Given the description of an element on the screen output the (x, y) to click on. 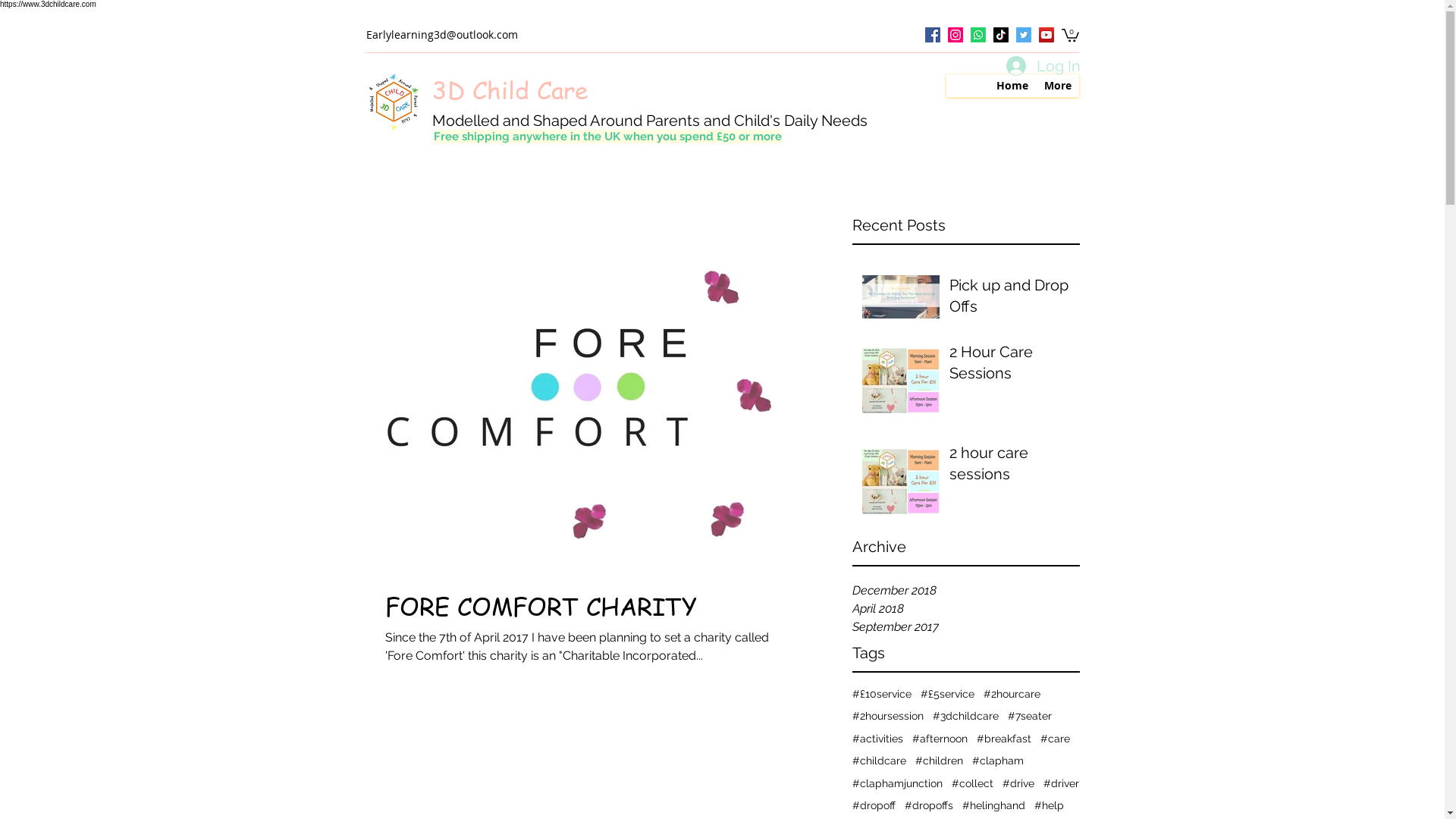
#helinghand Element type: text (992, 805)
#3dchildcare Element type: text (965, 716)
2 hour care sessions Element type: text (1009, 466)
#drive Element type: text (1018, 783)
Log In Element type: text (1039, 65)
September 2017 Element type: text (965, 627)
#dropoffs Element type: text (927, 805)
#clapham Element type: text (997, 761)
#collect Element type: text (971, 783)
FORE COMFORT CHARITY Element type: text (579, 605)
Earlylearning3d@outlook.com Element type: text (441, 34)
0 Element type: text (1070, 34)
#2hoursession Element type: text (887, 716)
#driver Element type: text (1061, 783)
#2hourcare Element type: text (1010, 694)
#childcare Element type: text (879, 761)
#children Element type: text (938, 761)
December 2018 Element type: text (965, 590)
#claphamjunction Element type: text (897, 783)
#help Element type: text (1048, 805)
#dropoff Element type: text (873, 805)
#7seater Element type: text (1029, 716)
April 2018 Element type: text (965, 608)
#activities Element type: text (877, 739)
#afternoon Element type: text (938, 739)
#care Element type: text (1055, 739)
#breakfast Element type: text (1003, 739)
2 Hour Care Sessions Element type: text (1009, 365)
Pick up and Drop Offs Element type: text (1009, 298)
